Given the description of an element on the screen output the (x, y) to click on. 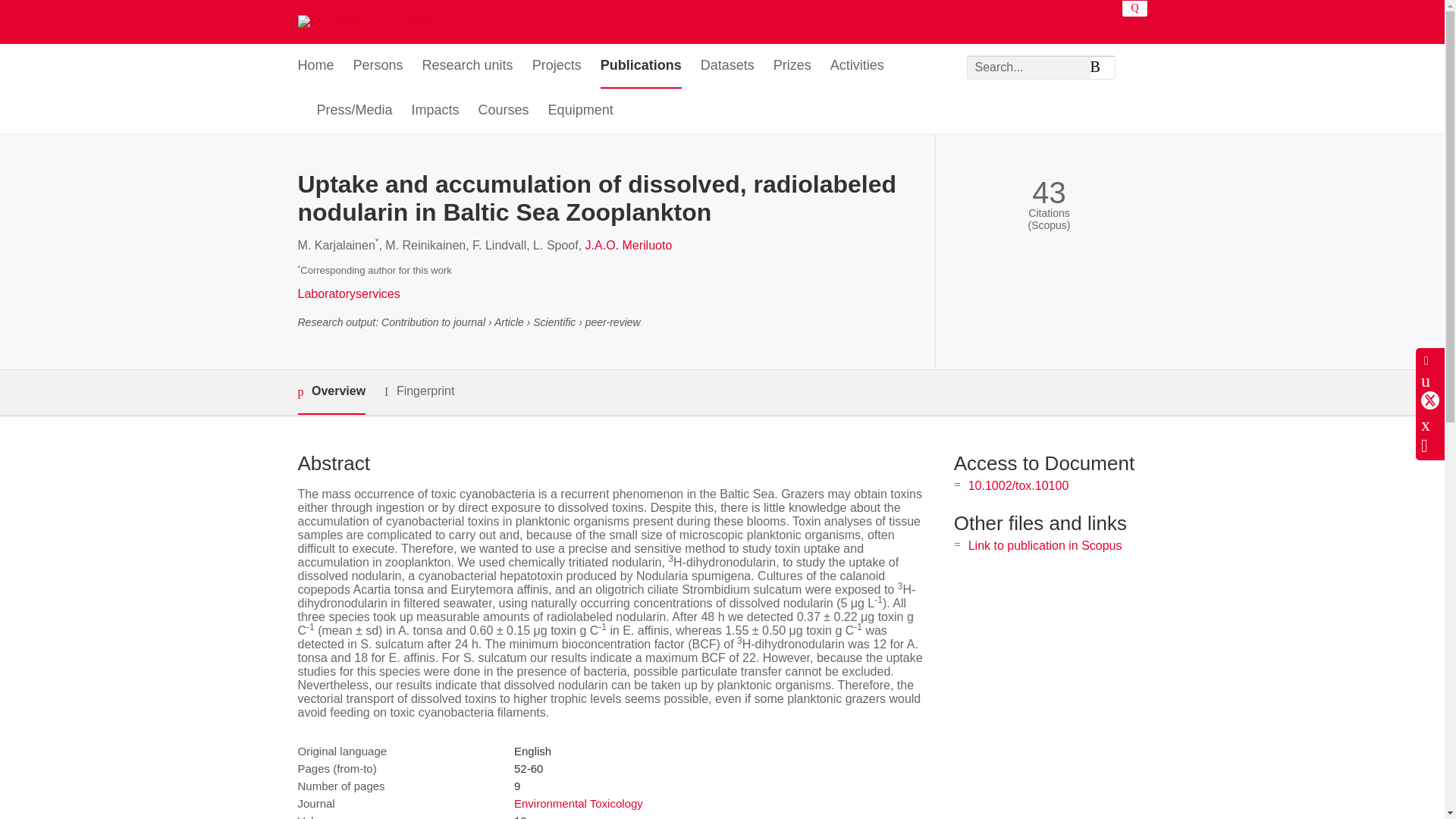
Environmental Toxicology (578, 802)
Courses (504, 110)
Projects (556, 66)
Laboratoryservices (347, 293)
Overview (331, 392)
Publications (640, 66)
Link to publication in Scopus (1045, 545)
Impacts (436, 110)
Datasets (727, 66)
Persons (378, 66)
J.A.O. Meriluoto (628, 245)
Fingerprint (419, 391)
Equipment (580, 110)
Research units (467, 66)
